Given the description of an element on the screen output the (x, y) to click on. 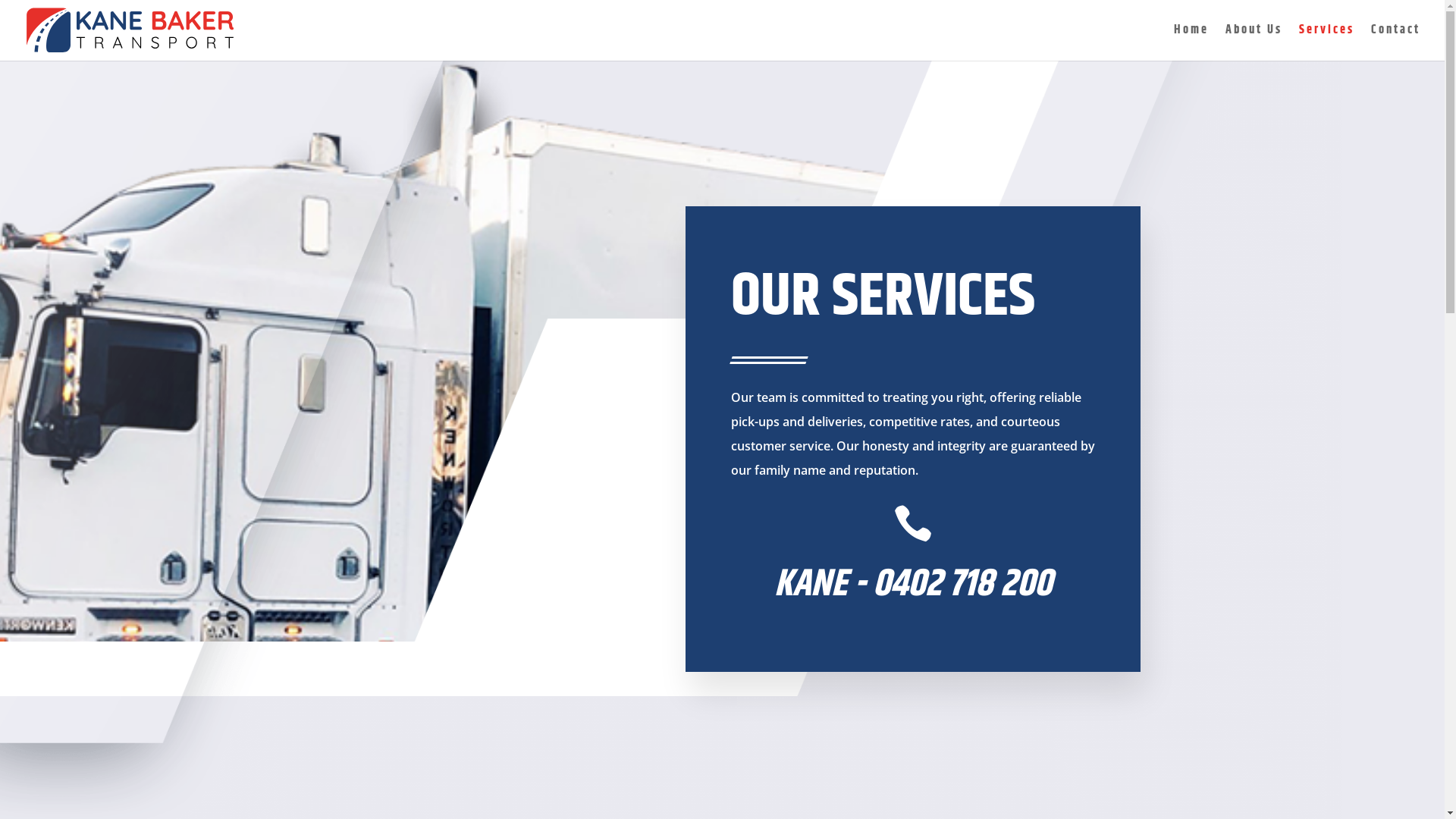
About Us Element type: text (1253, 42)
Services Element type: text (1326, 42)
Contact Element type: text (1395, 42)
Home Element type: text (1190, 42)
